Given the description of an element on the screen output the (x, y) to click on. 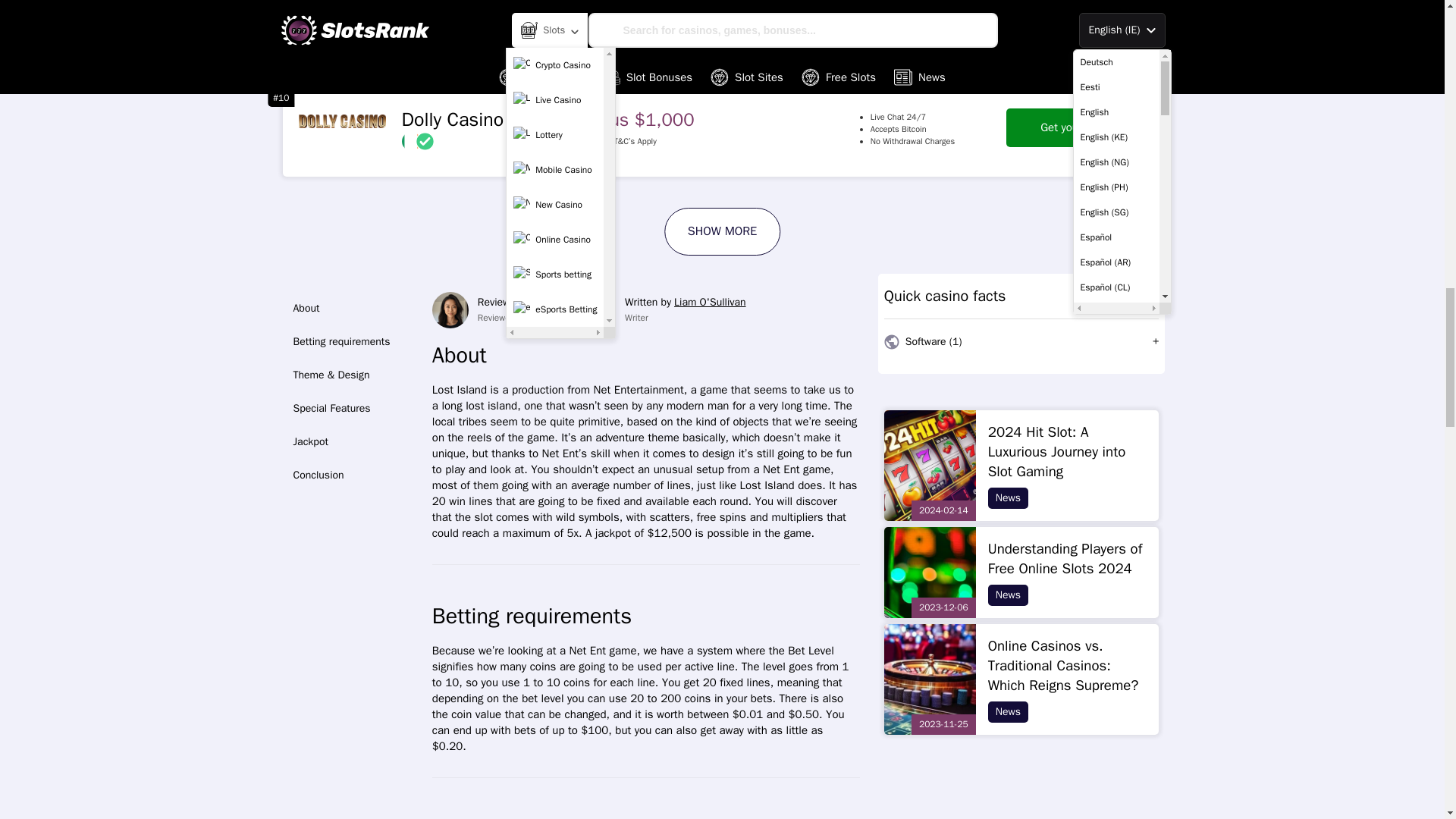
Conclusion (352, 475)
About (352, 308)
Special Features (352, 408)
Jackpot (352, 442)
Betting requirements (352, 341)
